Given the description of an element on the screen output the (x, y) to click on. 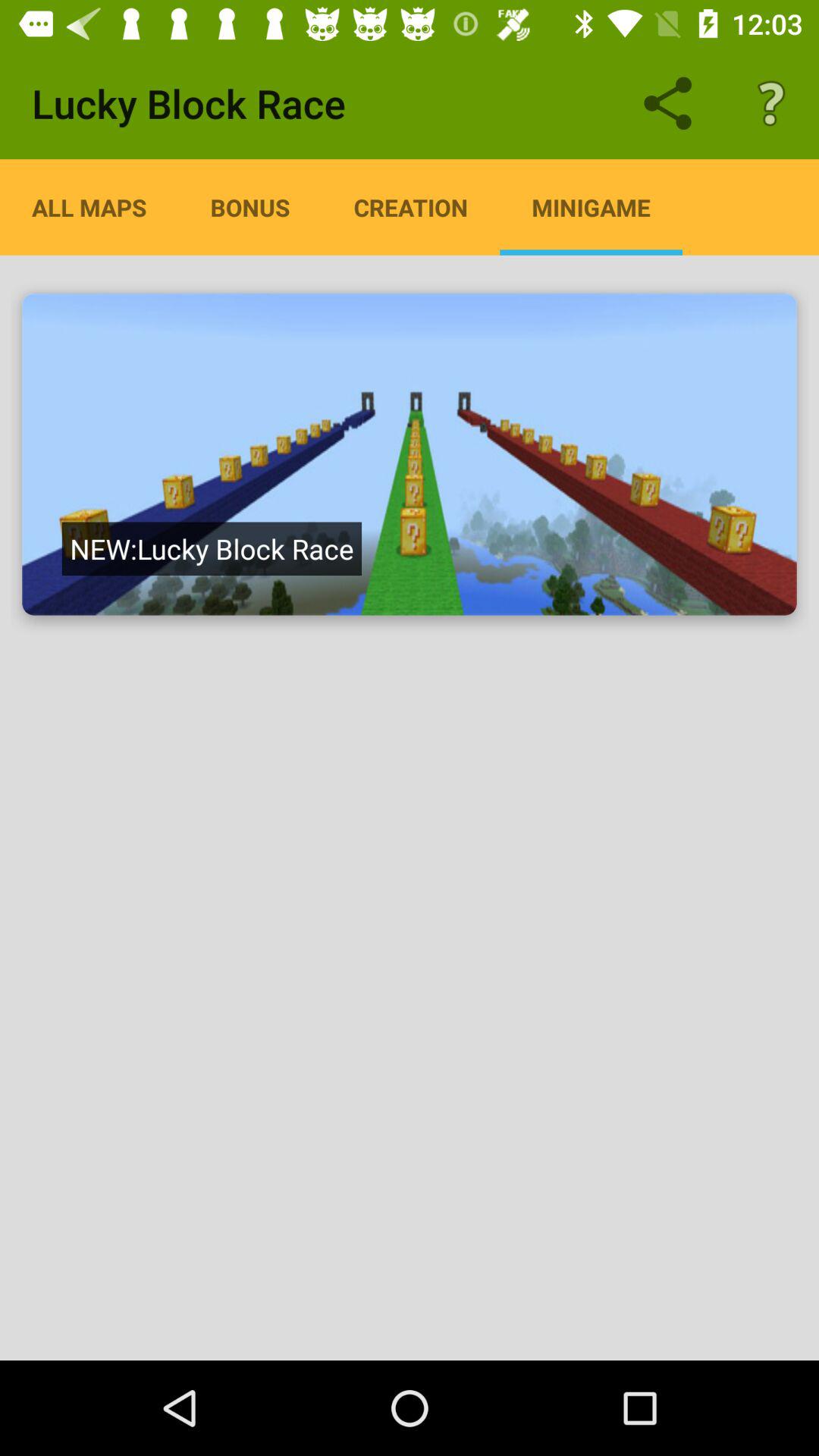
choose item to the left of bonus app (89, 207)
